Given the description of an element on the screen output the (x, y) to click on. 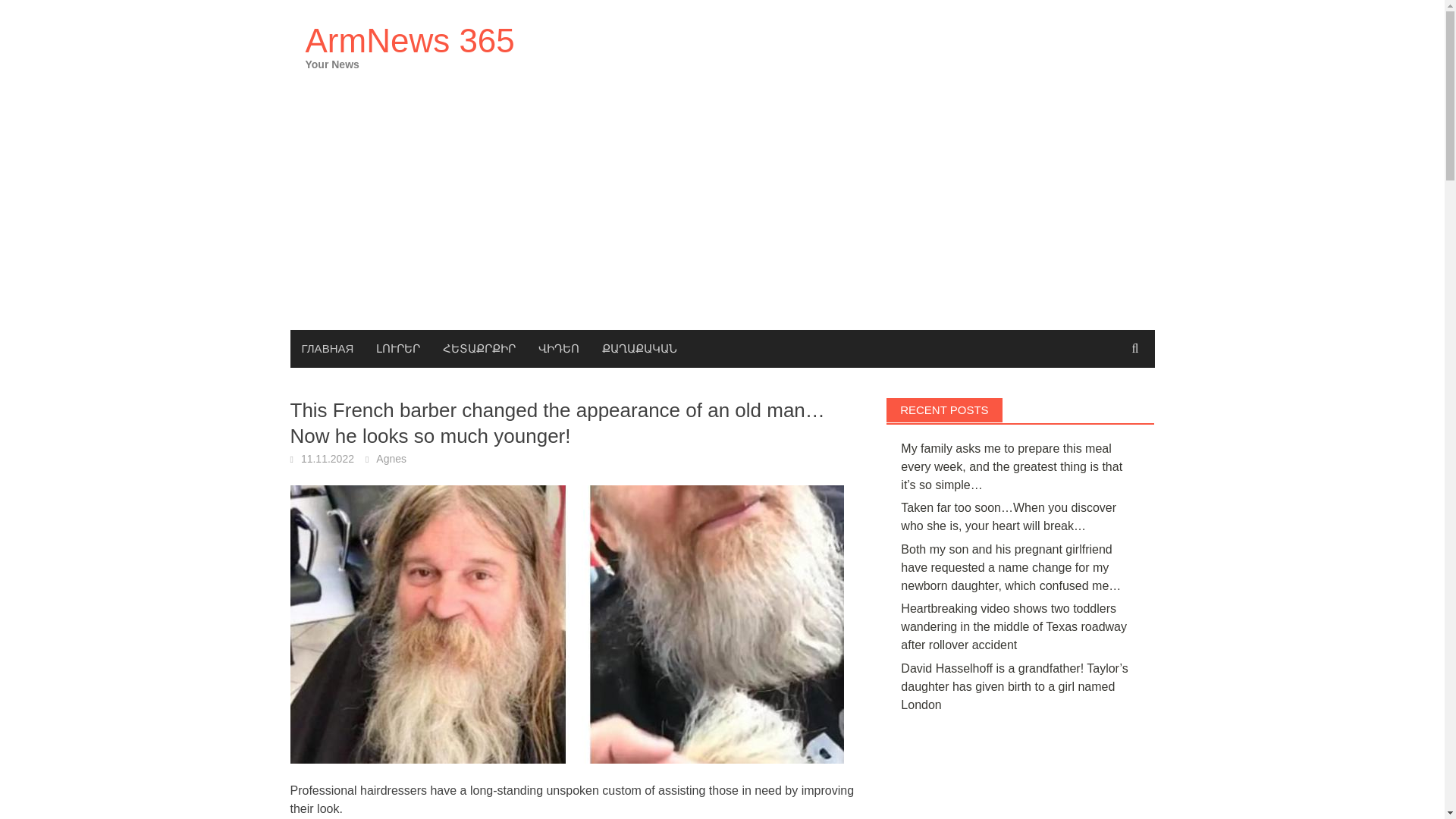
ArmNews 365 (408, 40)
11.11.2022 (327, 458)
Agnes (390, 458)
